Given the description of an element on the screen output the (x, y) to click on. 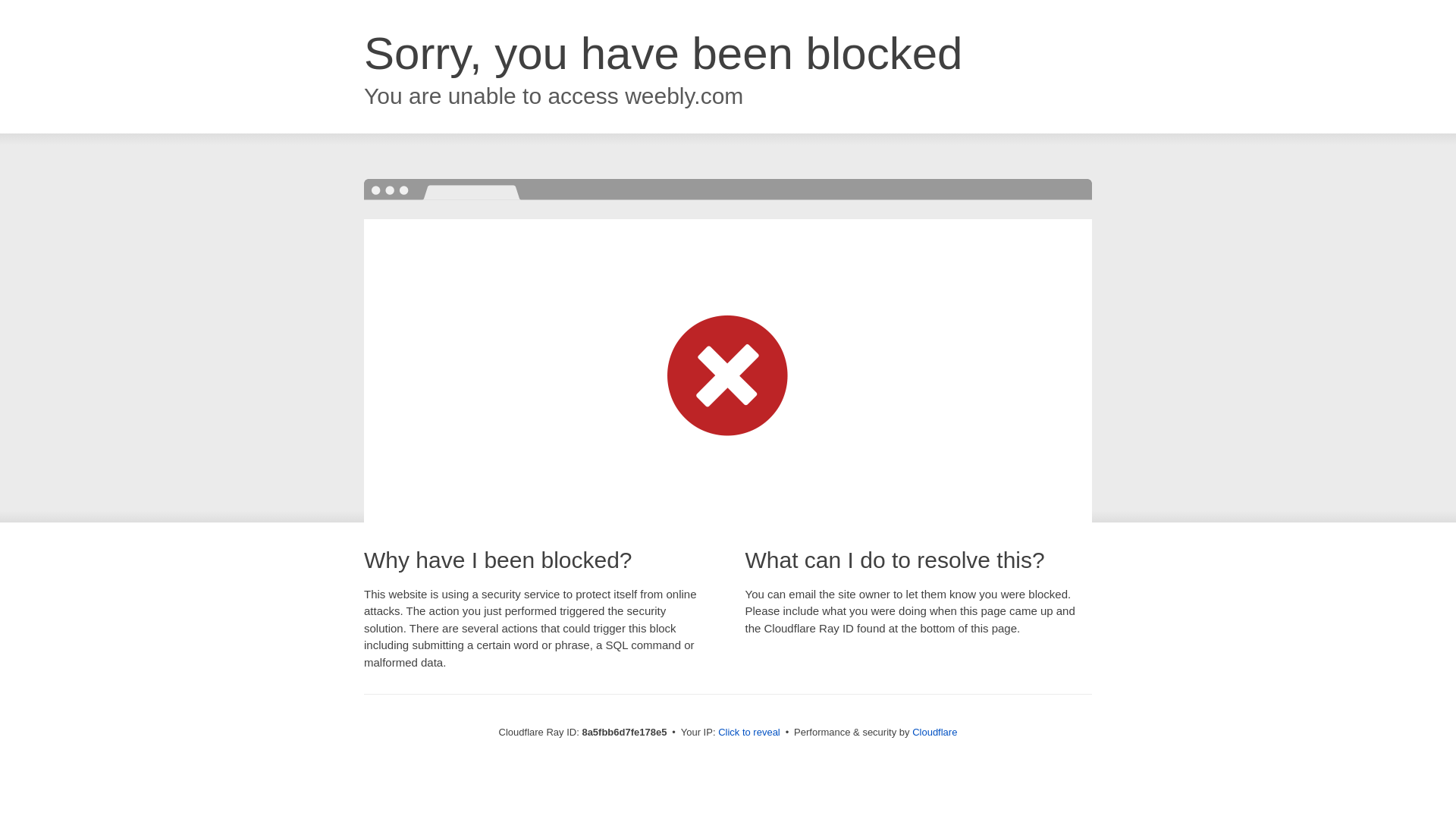
Click to reveal (748, 732)
Cloudflare (934, 731)
